Given the description of an element on the screen output the (x, y) to click on. 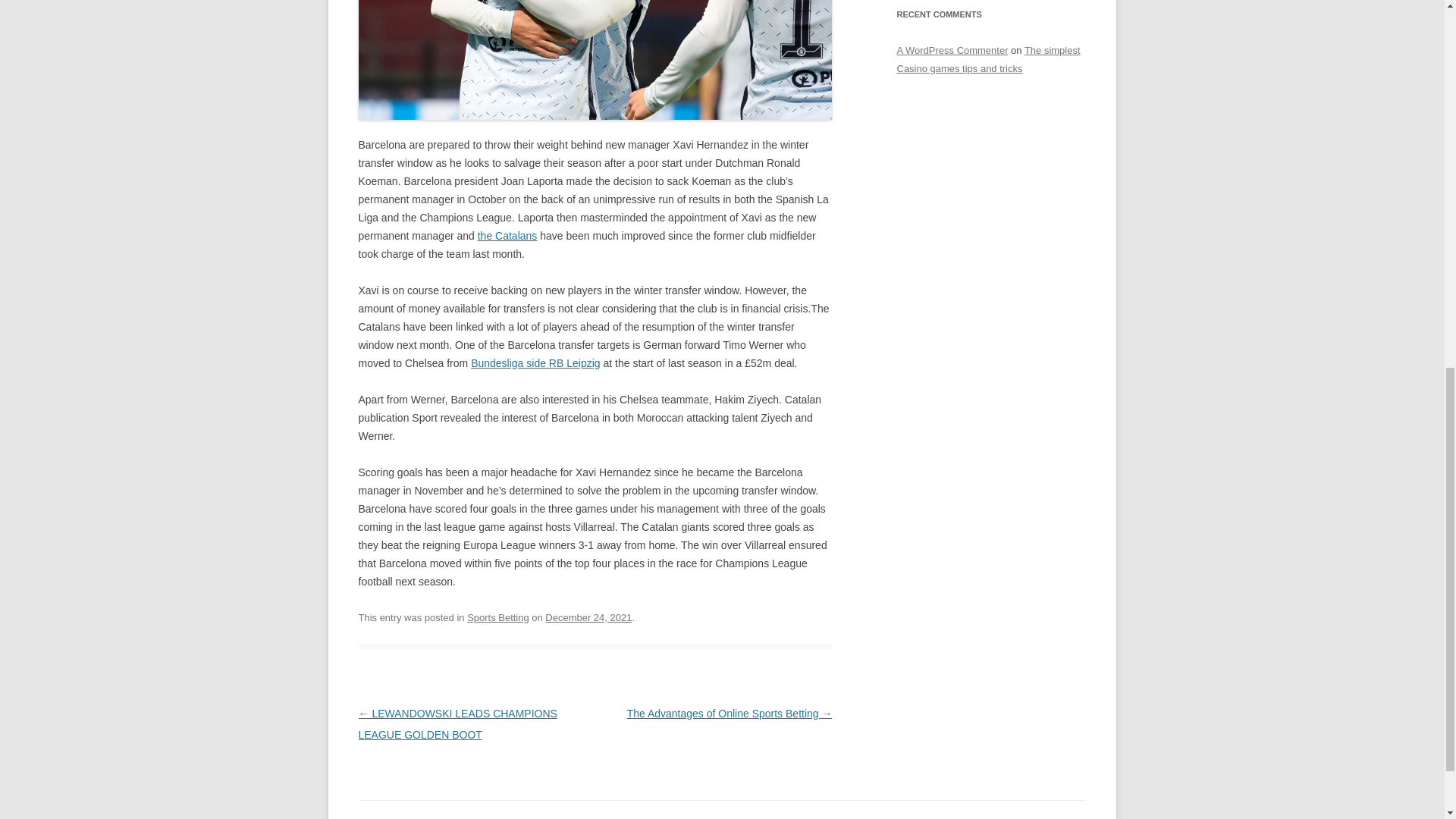
The simplest Casino games tips and tricks (988, 59)
December 24, 2021 (587, 617)
A WordPress Commenter (951, 50)
8:43 am (587, 617)
the Catalans (507, 235)
Bundesliga side RB Leipzig (534, 363)
Sports Betting (498, 617)
